Given the description of an element on the screen output the (x, y) to click on. 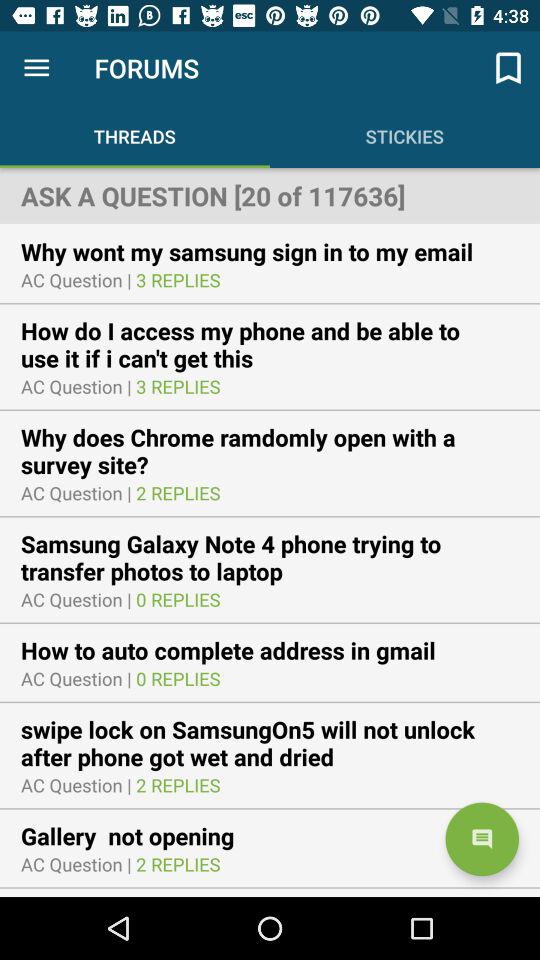
launch the item above ask a question icon (508, 67)
